Given the description of an element on the screen output the (x, y) to click on. 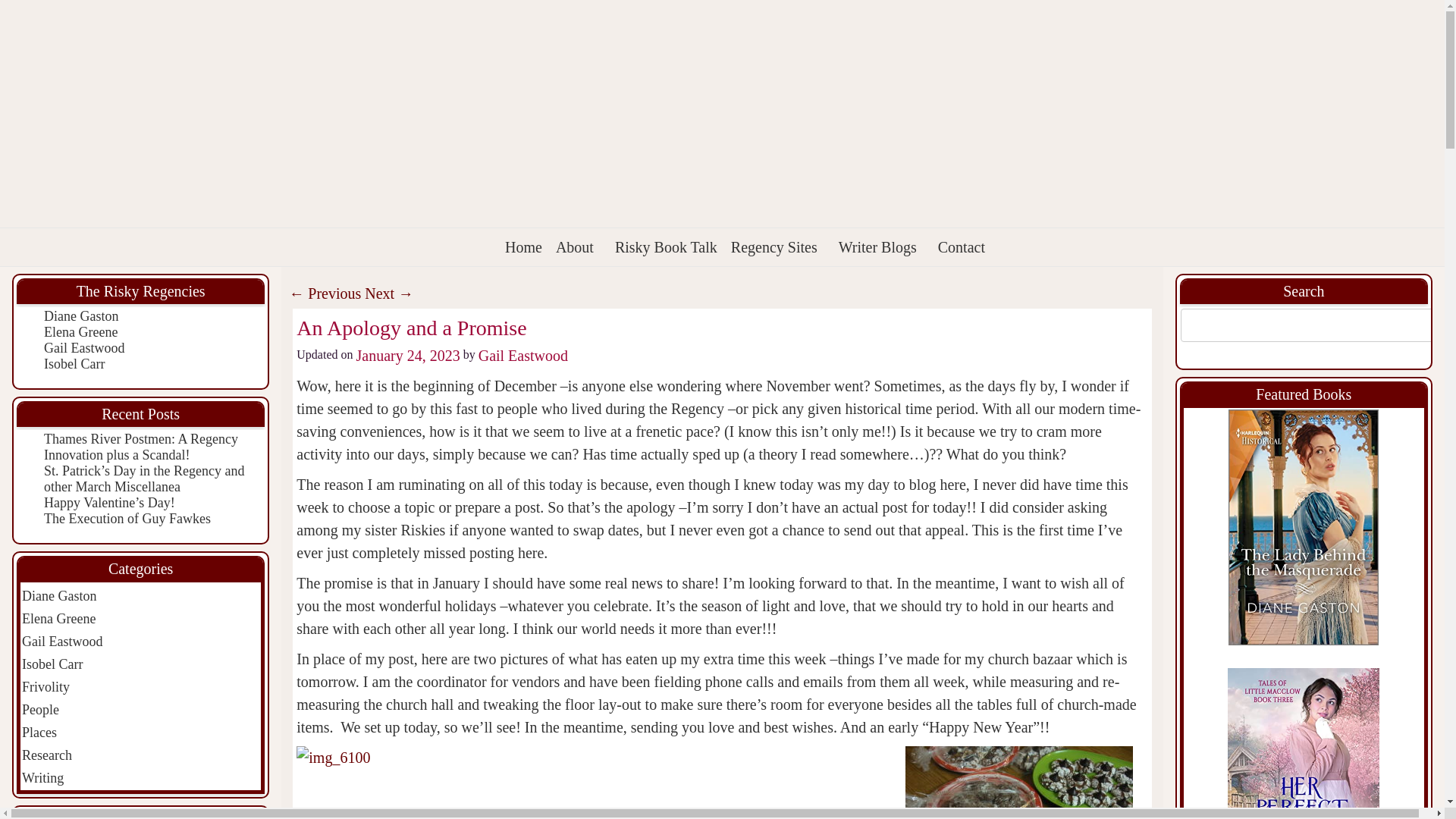
Contact (961, 247)
Thames River Postmen: A Regency Innovation plus a Scandal! (140, 446)
The website of romance author Isobel Carr (73, 363)
Permalink to An Apology and a Promise (411, 327)
Home (523, 247)
Gail Eastwood (83, 347)
Regency Sites (778, 247)
About (578, 247)
Elena Greene (80, 331)
Diane Gaston (80, 315)
